Given the description of an element on the screen output the (x, y) to click on. 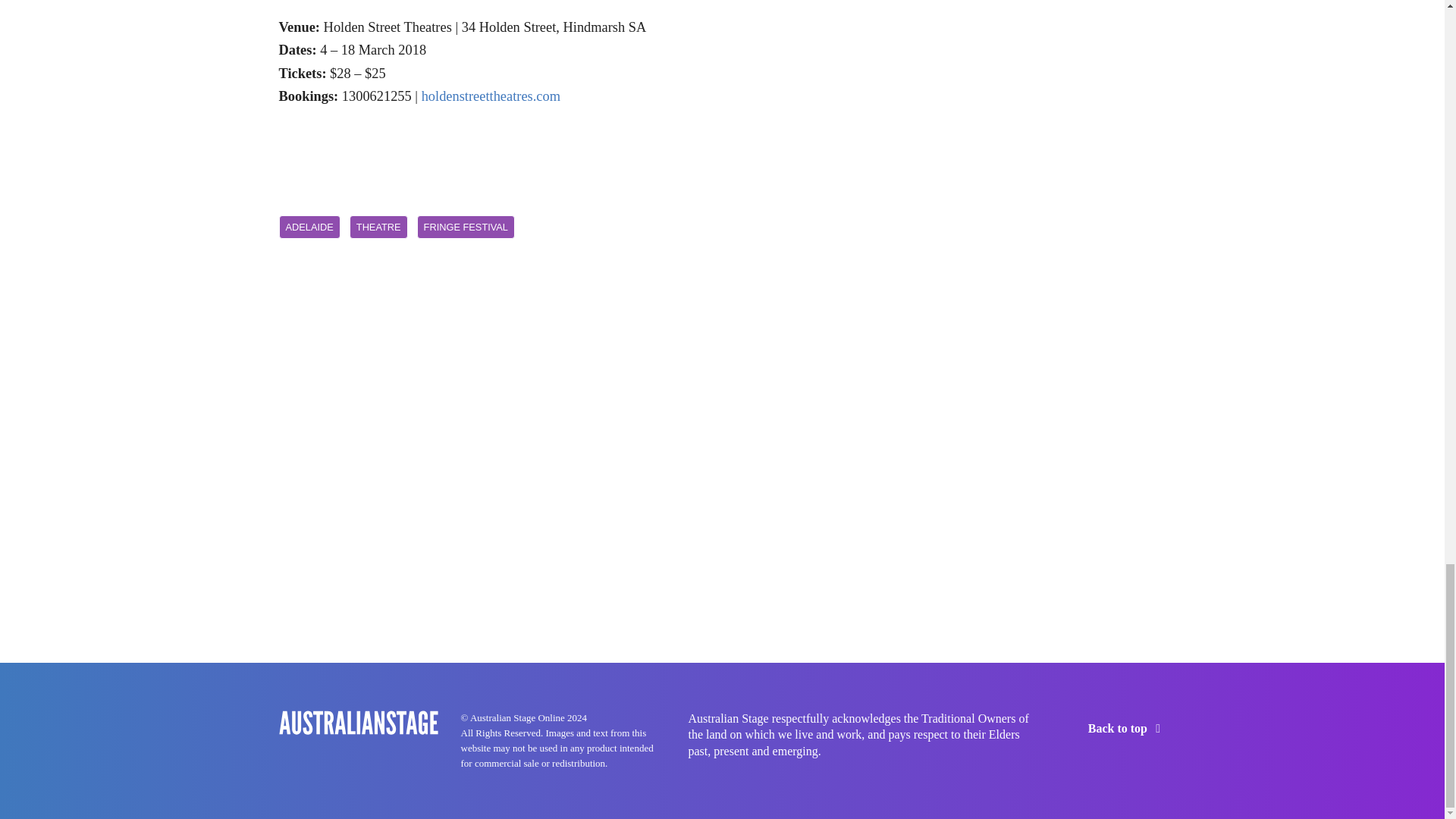
FRINGE FESTIVAL (465, 227)
THEATRE (378, 227)
Back to top (1126, 727)
holdenstreettheatres.com (491, 96)
Back to top (1126, 727)
ADELAIDE (309, 227)
